Given the description of an element on the screen output the (x, y) to click on. 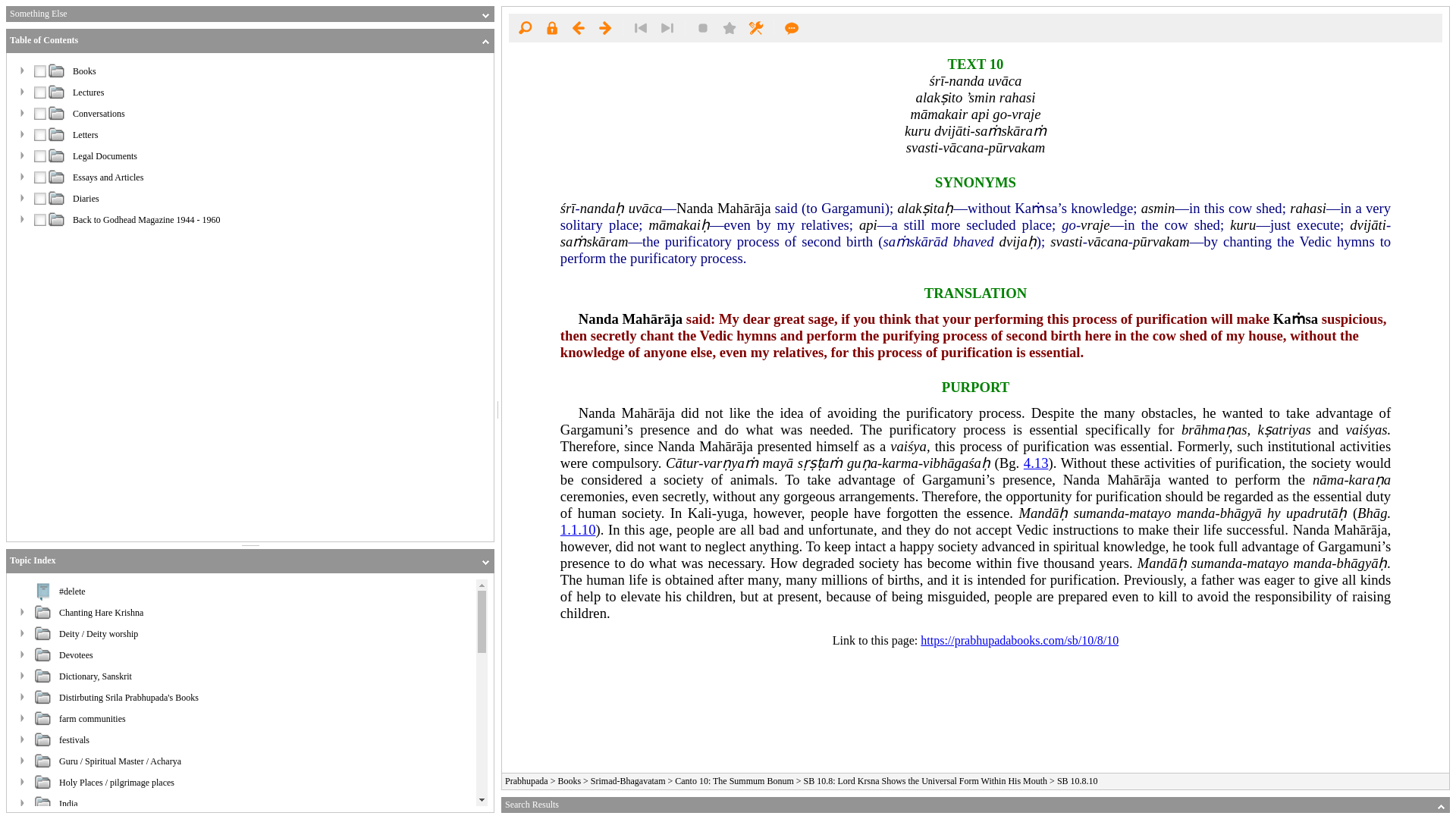
Next Document (604, 27)
Previous Document (578, 27)
Bookmark (729, 27)
Help (791, 27)
Highlight Text (703, 27)
Next Search Hit (666, 27)
Previous Search Hit (640, 27)
Login (551, 27)
Search (525, 27)
Settings (755, 27)
